Given the description of an element on the screen output the (x, y) to click on. 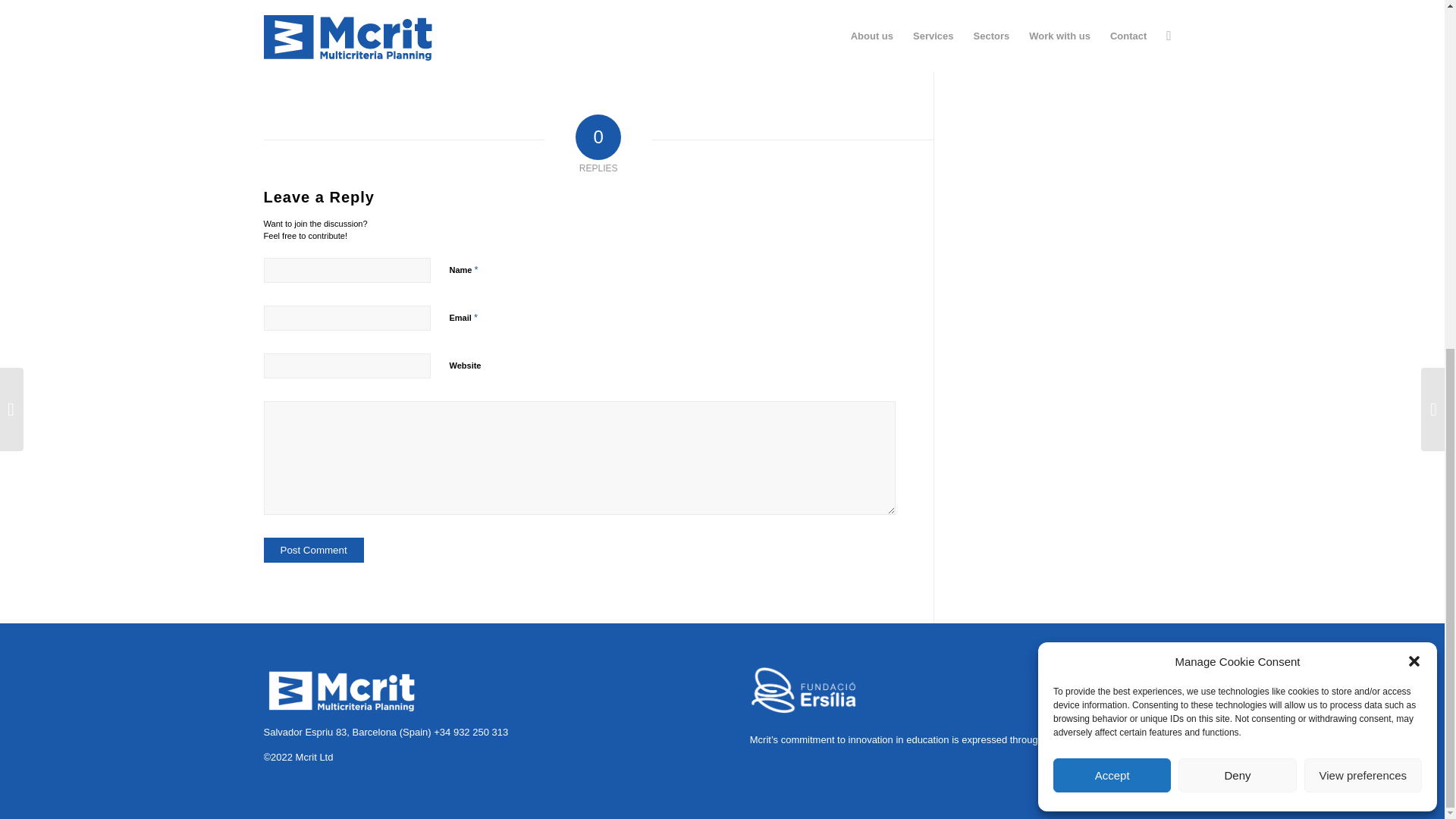
Post Comment (313, 549)
Accept (1111, 173)
View preferences (1363, 173)
Deny (1236, 173)
